Given the description of an element on the screen output the (x, y) to click on. 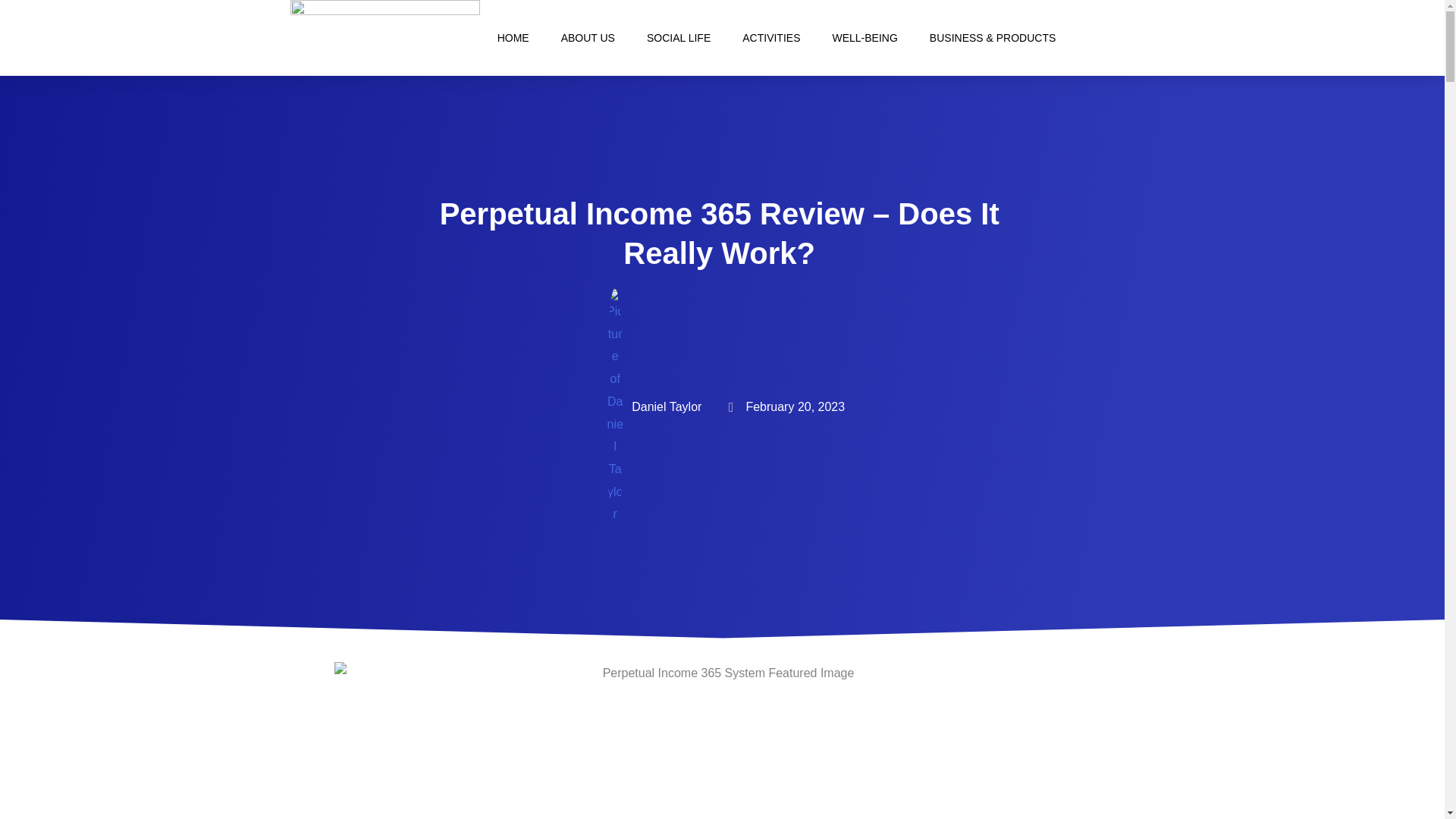
ABOUT US (588, 37)
ACTIVITIES (770, 37)
HOME (512, 37)
SOCIAL LIFE (678, 37)
WELL-BEING (864, 37)
